Given the description of an element on the screen output the (x, y) to click on. 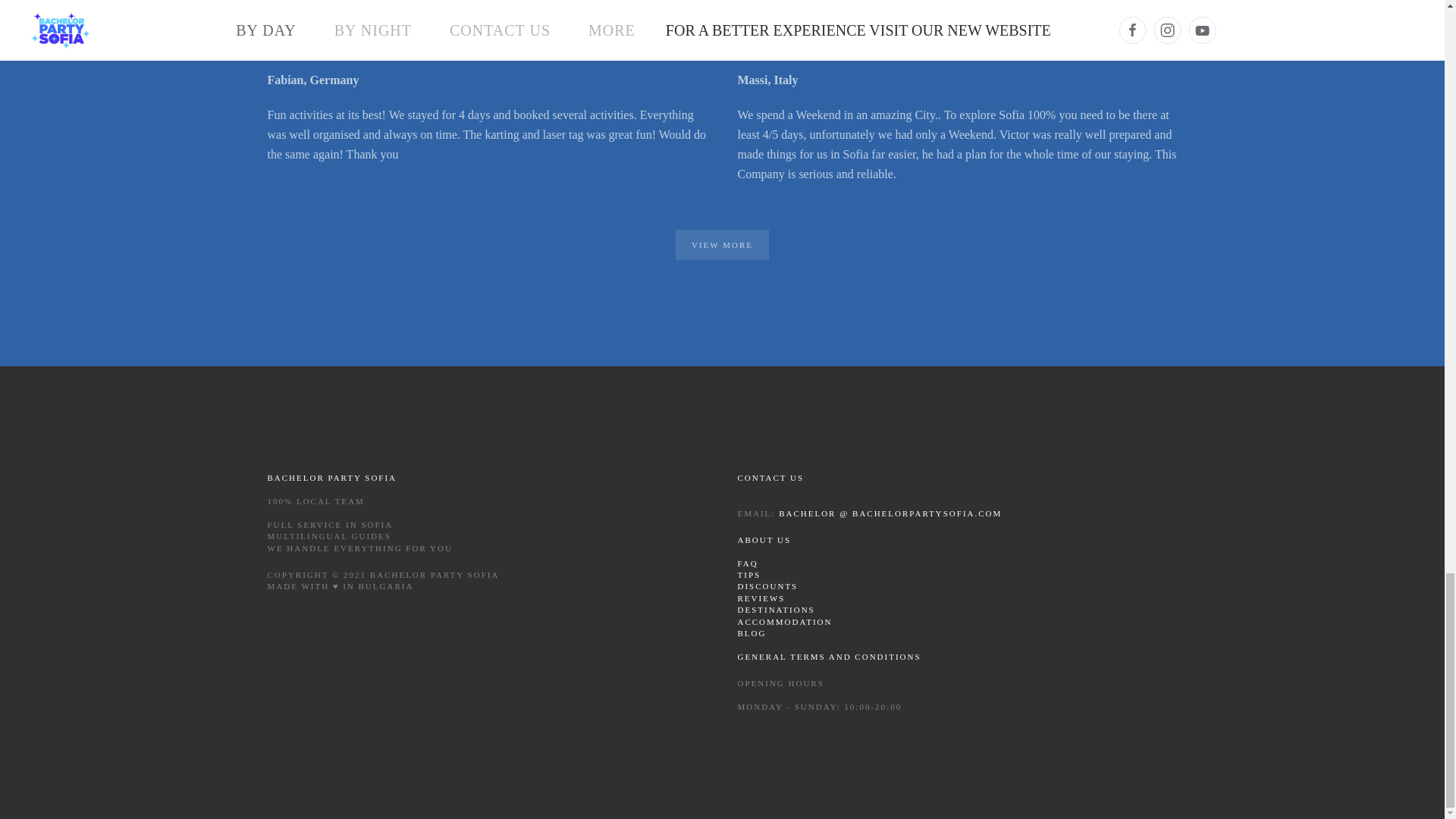
LATEST CUSTOMER'S REVIEWS (721, 14)
about (763, 539)
blog (750, 633)
reviews (760, 597)
faq (746, 563)
accommodation (783, 621)
VIEW MORE (721, 245)
about (828, 655)
quote (769, 477)
tips (748, 574)
